Given the description of an element on the screen output the (x, y) to click on. 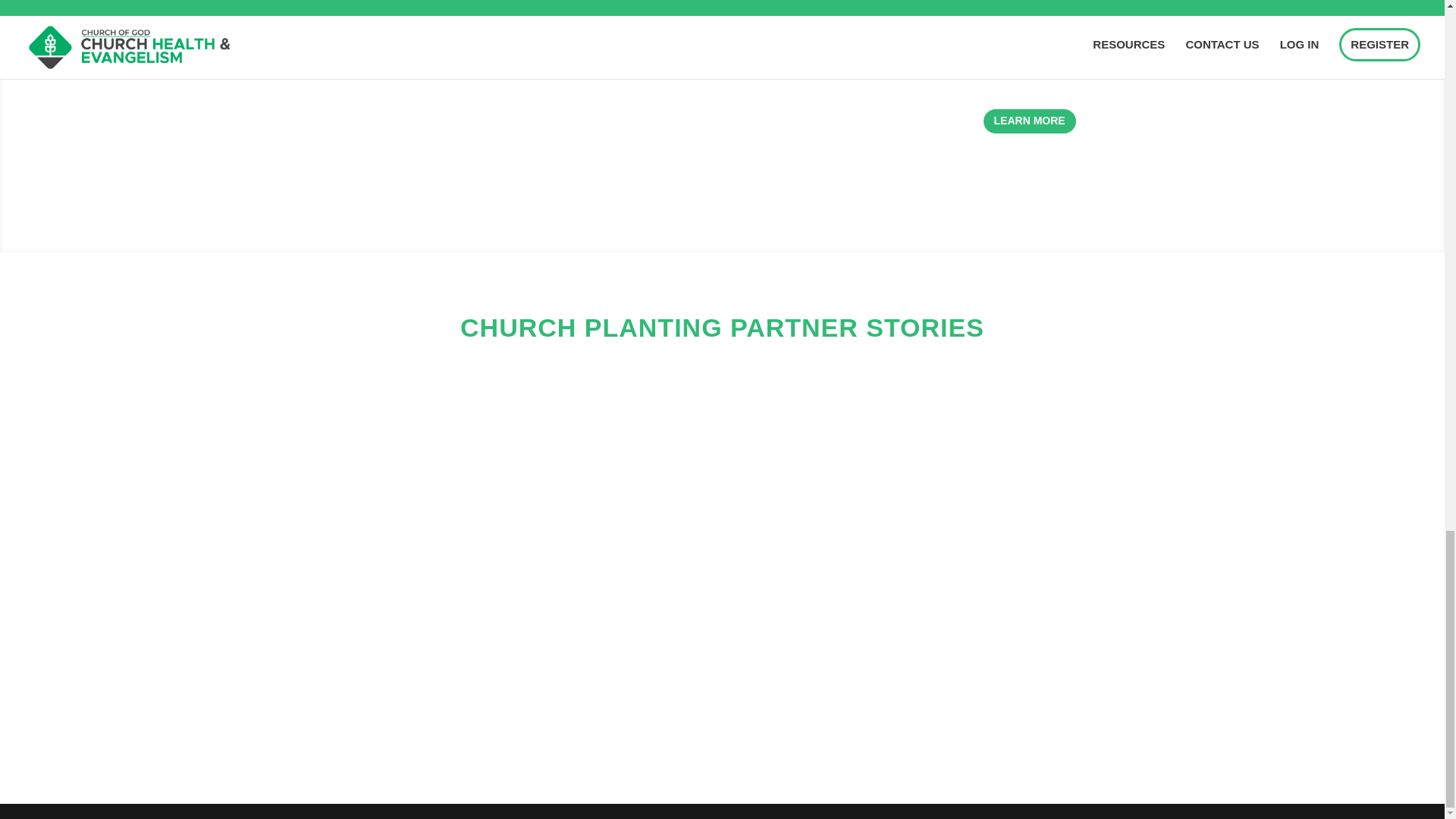
CHURCH AFFILIATES (1029, 15)
LEARN MORE (1029, 120)
